Given the description of an element on the screen output the (x, y) to click on. 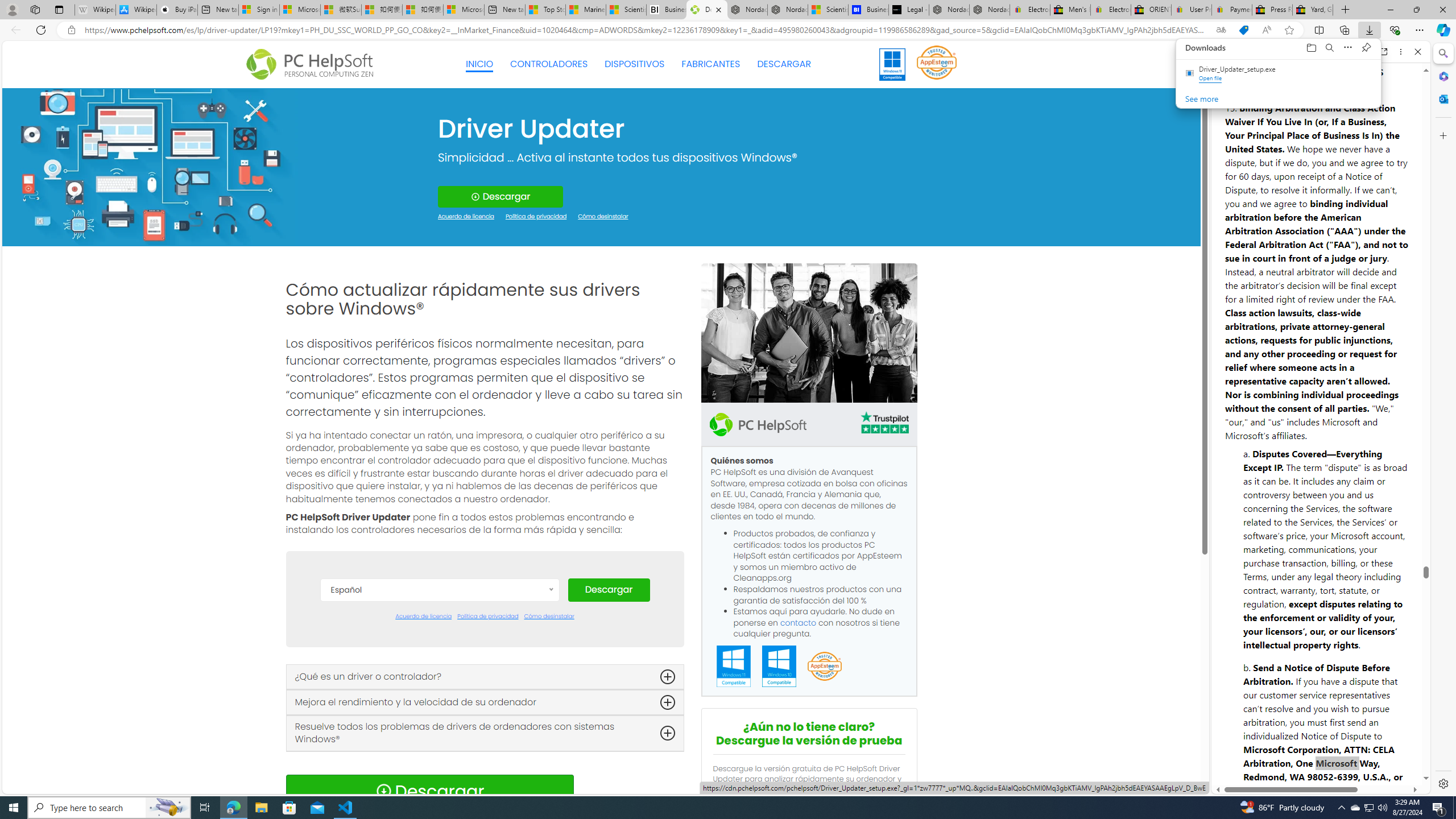
Marine life - MSN (585, 9)
INICIO (479, 64)
DESCARGAR (783, 64)
Descarga Driver Updater (706, 9)
App Esteem (823, 666)
DISPOSITIVOS (634, 64)
Downloads (1369, 29)
team (808, 332)
